Given the description of an element on the screen output the (x, y) to click on. 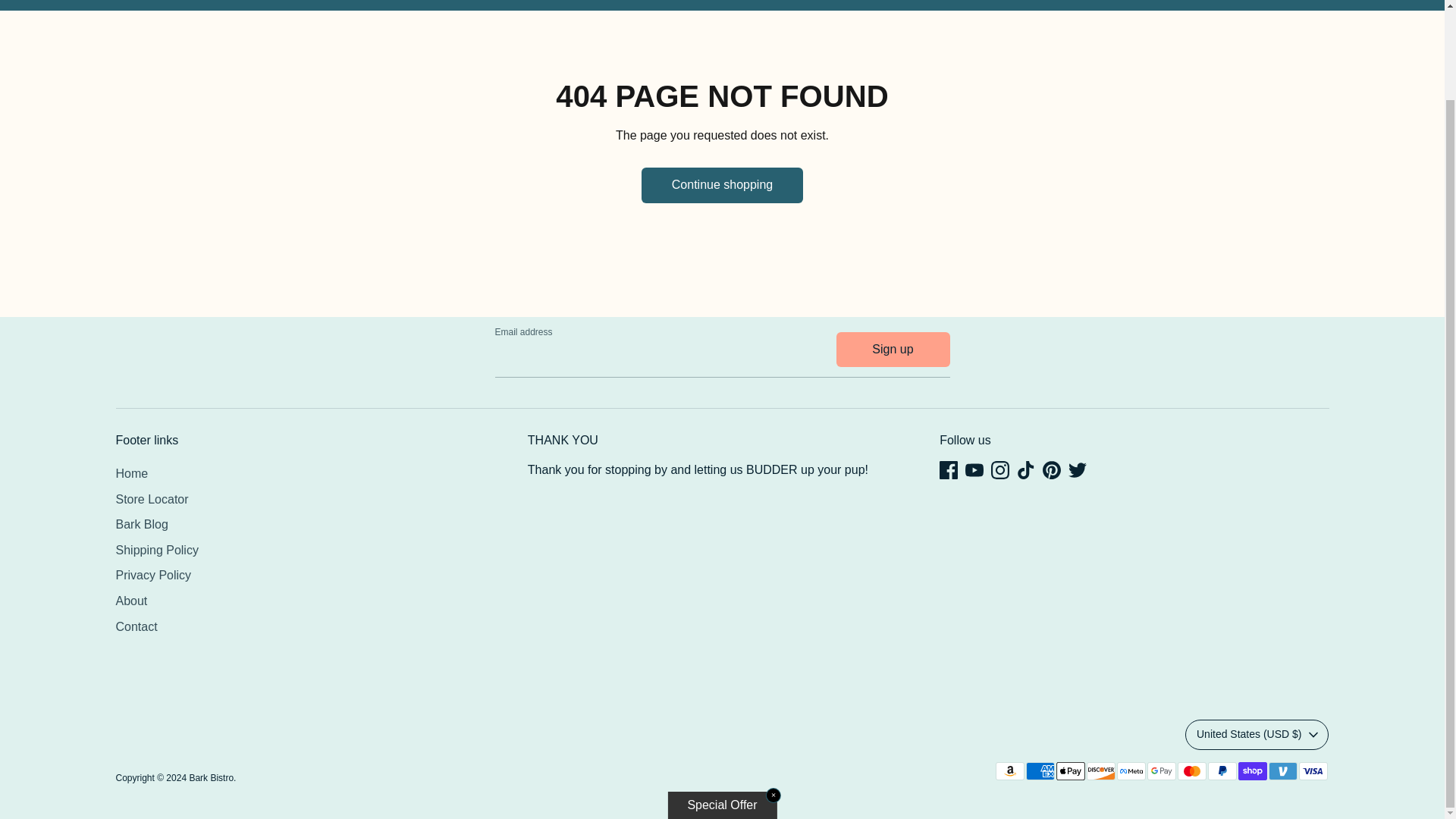
Meta Pay (1130, 771)
American Express (1039, 771)
Mastercard (1190, 771)
Amazon (1008, 771)
Discover (1100, 771)
Apple Pay (1069, 771)
Google Pay (1160, 771)
